Given the description of an element on the screen output the (x, y) to click on. 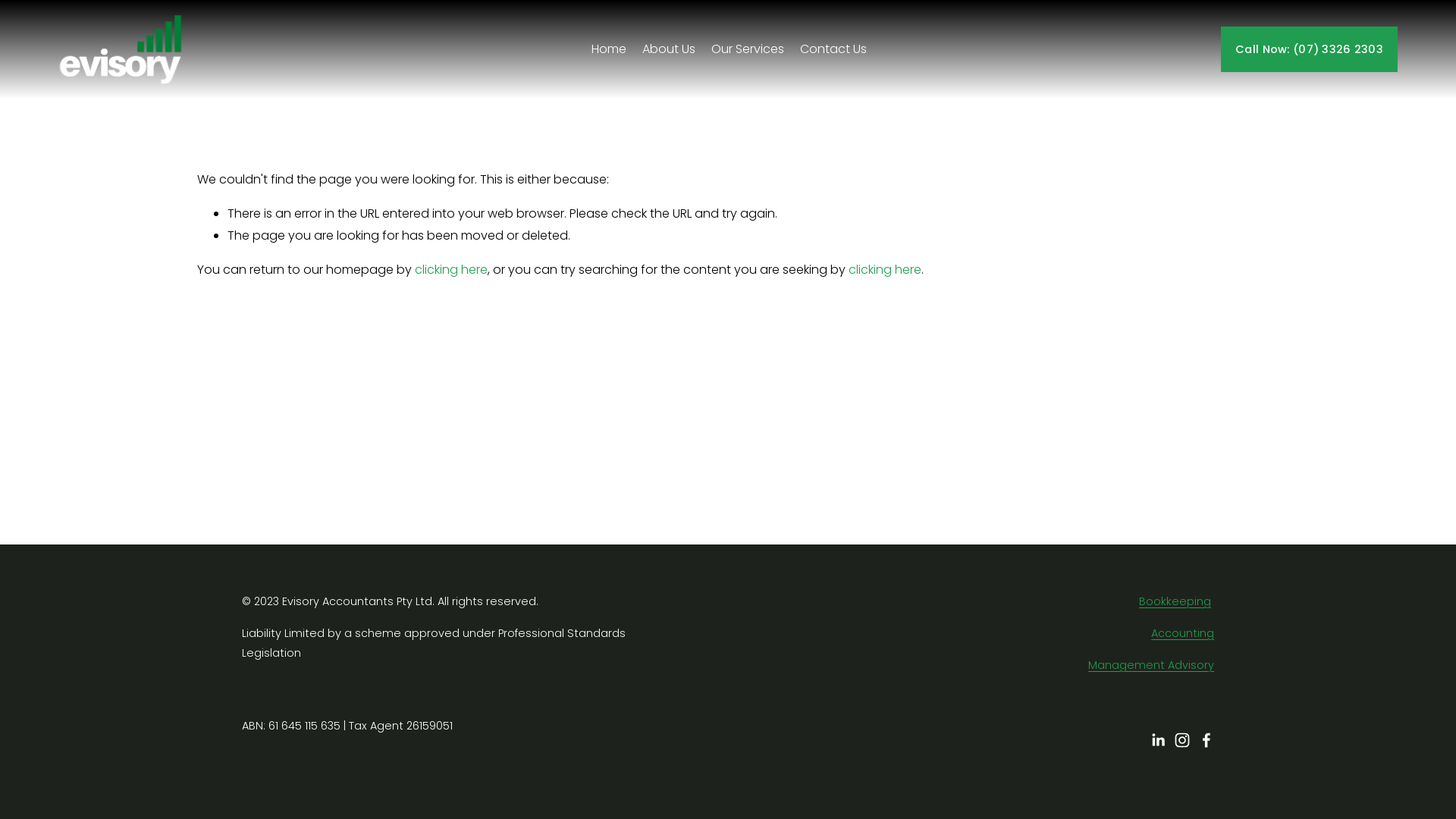
Our Services Element type: text (747, 49)
Call Now: (07) 3326 2303 Element type: text (1308, 48)
clicking here Element type: text (450, 269)
Home Element type: text (608, 49)
Management Advisory Element type: text (1151, 665)
About Us Element type: text (668, 49)
clicking here Element type: text (884, 269)
Contact Us Element type: text (833, 49)
Bookkeeping Element type: text (1175, 601)
Accounting Element type: text (1182, 633)
